Given the description of an element on the screen output the (x, y) to click on. 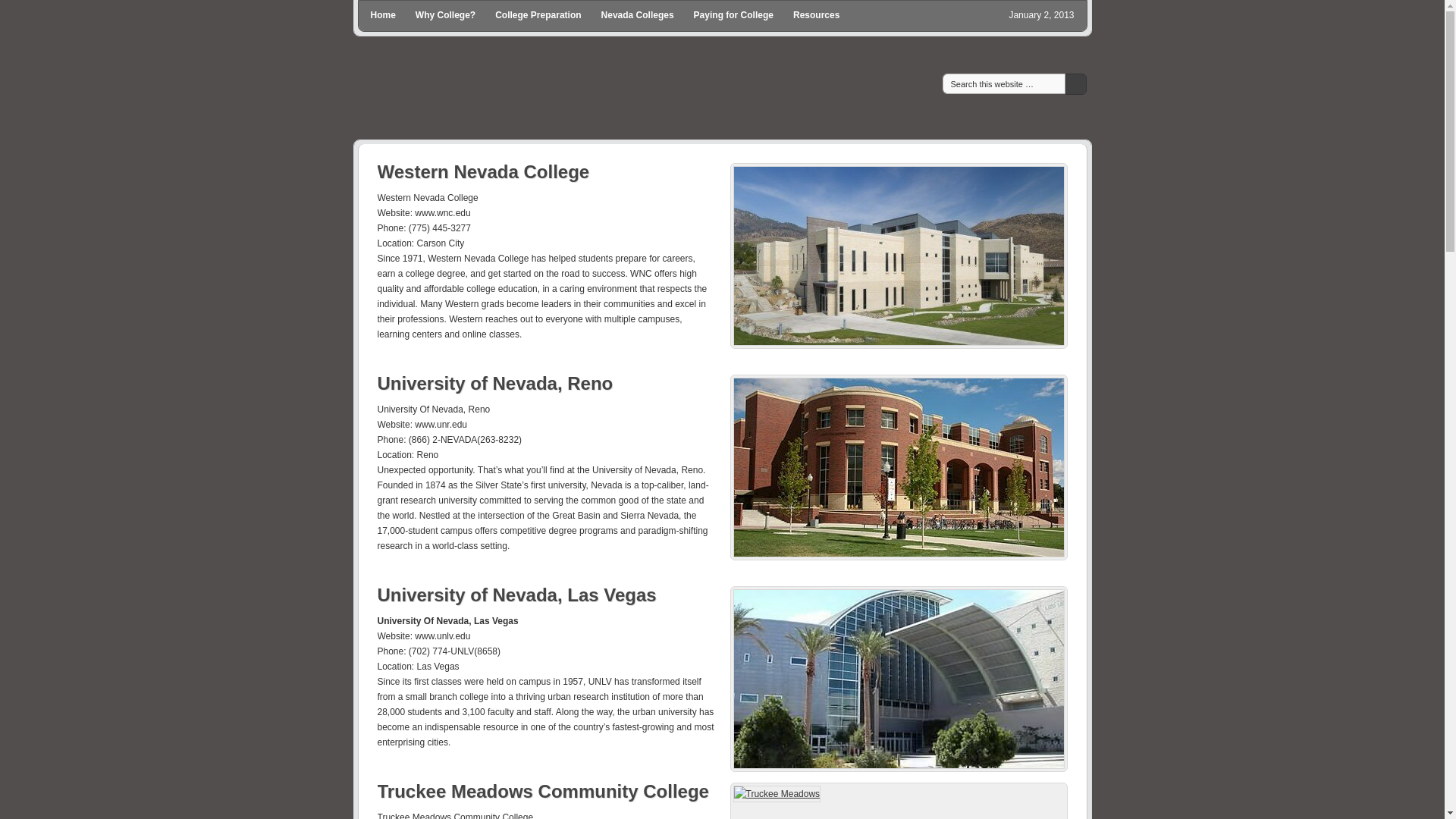
Truckee Meadows Community College (898, 800)
Western Nevada College (898, 255)
Resources (815, 15)
Nevada Colleges (636, 15)
University of Nevada, Reno (494, 383)
Paying for College (732, 15)
Search (1075, 84)
Search (1075, 84)
Go To College in Nevada (646, 89)
College Preparation (537, 15)
University of Nevada, Las Vegas (516, 594)
University of Nevada, Las Vegas (898, 679)
Home (382, 15)
Why College? (445, 15)
Western Nevada College (483, 171)
